Given the description of an element on the screen output the (x, y) to click on. 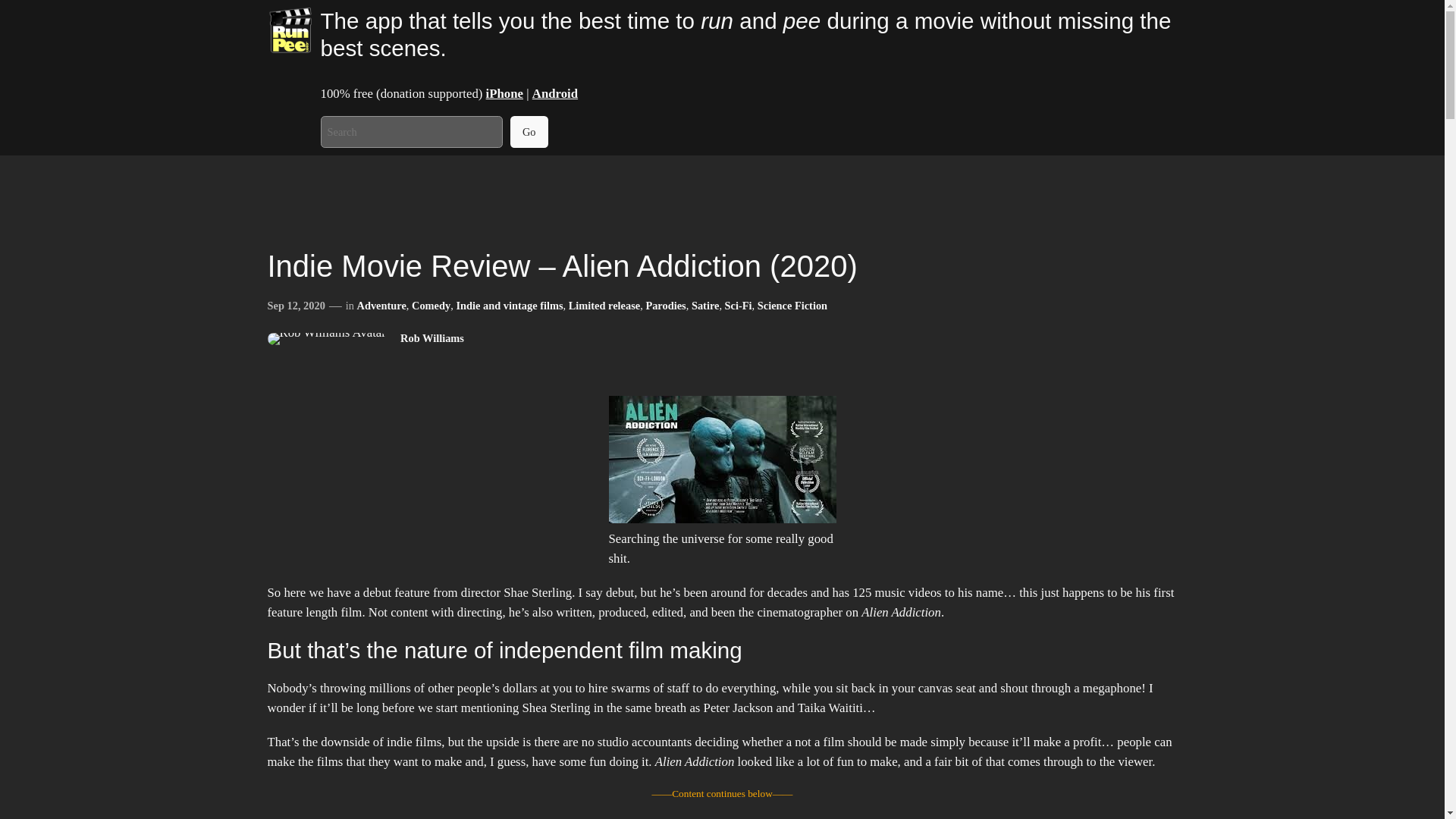
Limited release (604, 305)
Science Fiction (792, 305)
Comedy (430, 305)
Sci-Fi (738, 305)
Adventure (381, 305)
Satire (705, 305)
Parodies (665, 305)
iPhone (504, 93)
Indie and vintage films (508, 305)
Sep 12, 2020 (295, 305)
Rob Williams (432, 337)
Android (555, 93)
Go (529, 132)
